Given the description of an element on the screen output the (x, y) to click on. 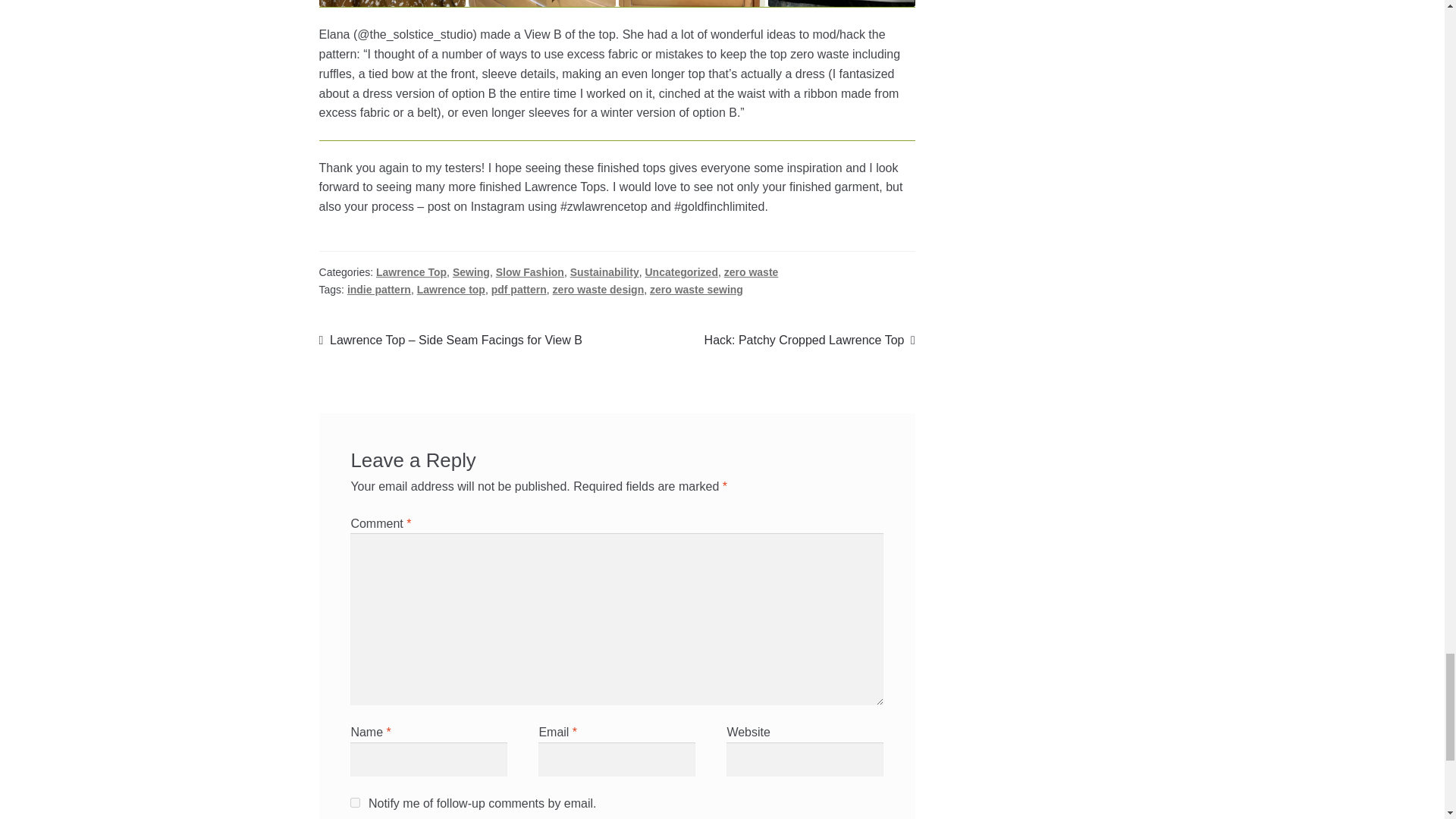
subscribe (354, 802)
